Given the description of an element on the screen output the (x, y) to click on. 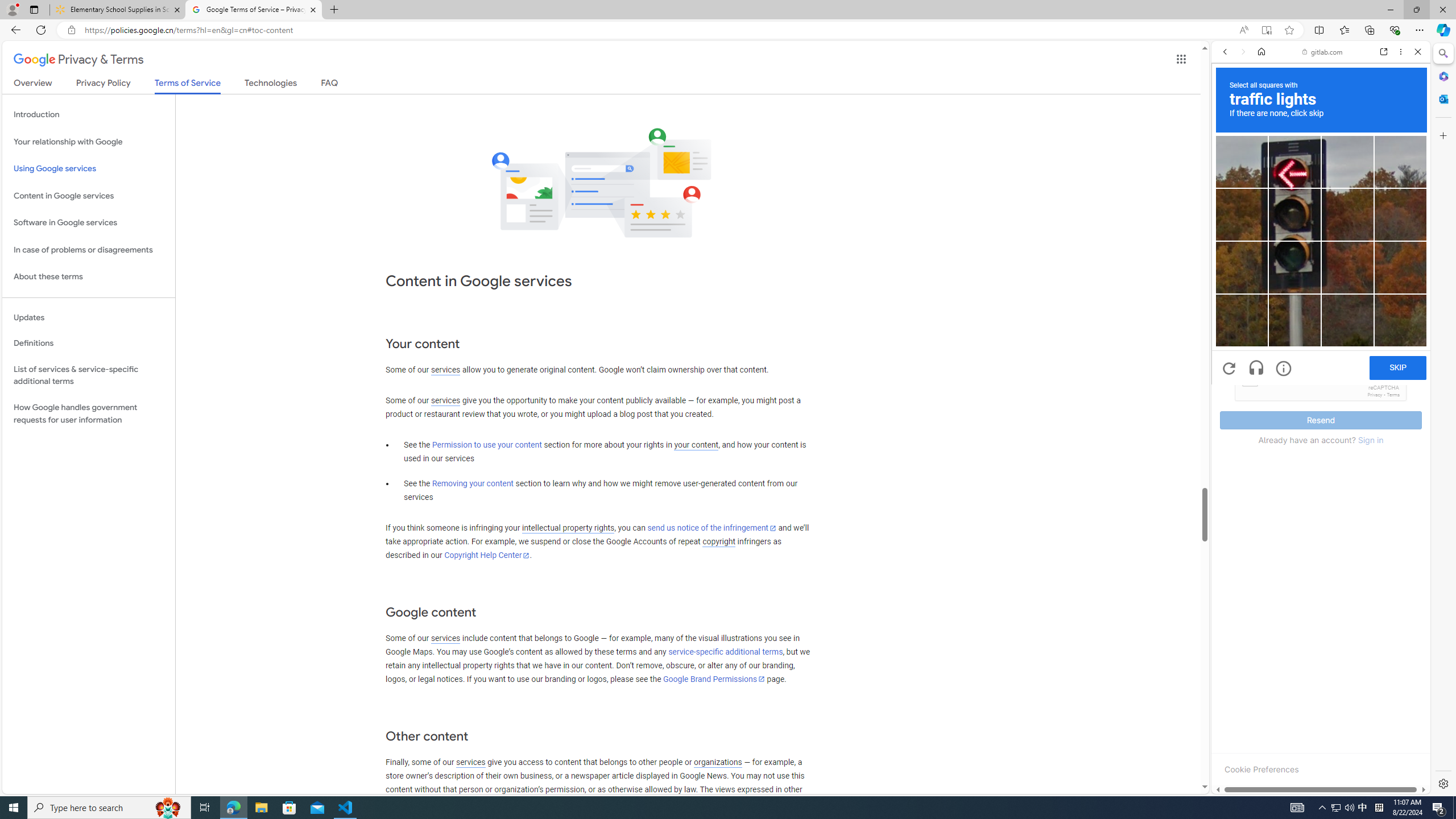
GitLab (1277, 794)
GitLab.com (1321, 189)
Register Now (1320, 253)
Get a new challenge (1229, 368)
Get an audio challenge (1256, 368)
